Given the description of an element on the screen output the (x, y) to click on. 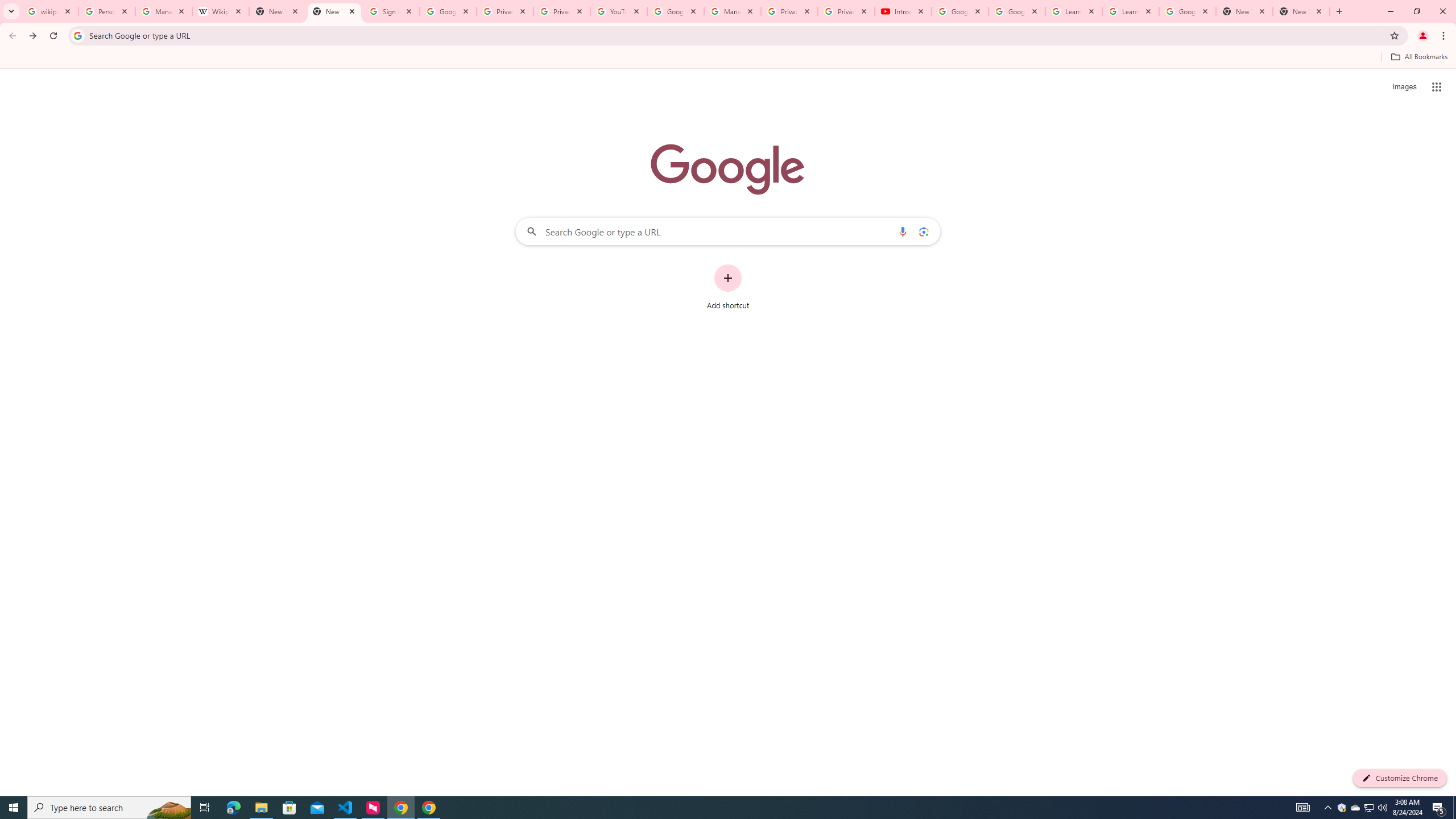
Google Drive: Sign-in (447, 11)
Search icon (77, 35)
New Tab (1244, 11)
Customize Chrome (1399, 778)
Personalization & Google Search results - Google Search Help (105, 11)
Bookmarks (728, 58)
Sign in - Google Accounts (391, 11)
Search Google or type a URL (727, 230)
Google Account Help (959, 11)
Google Account Help (1015, 11)
